Given the description of an element on the screen output the (x, y) to click on. 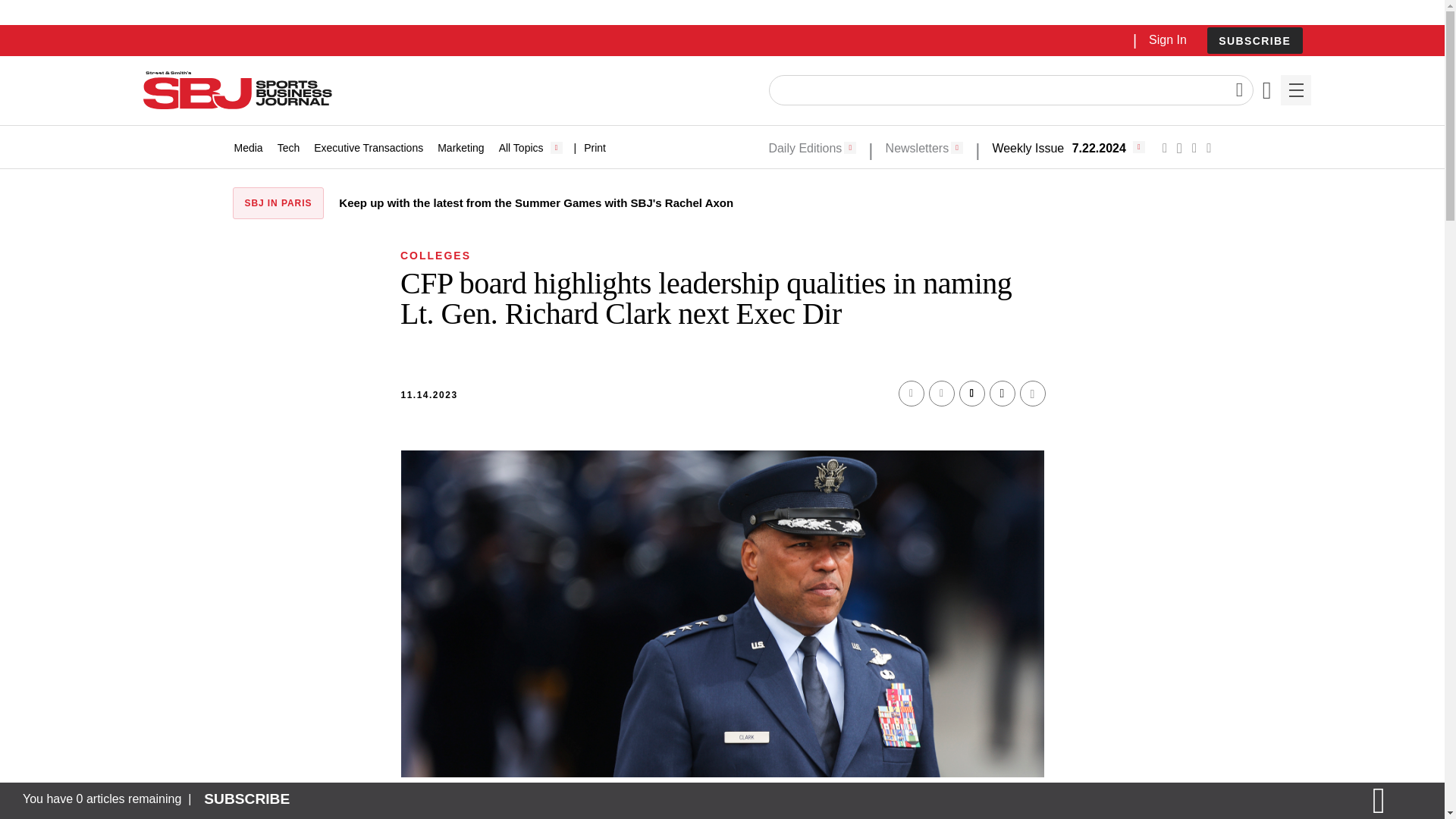
SUBSCRIBE (1254, 40)
Sign In (1167, 40)
Menu (1294, 90)
SIGN IN (1194, 324)
SUBSCRIBE (1255, 40)
